Given the description of an element on the screen output the (x, y) to click on. 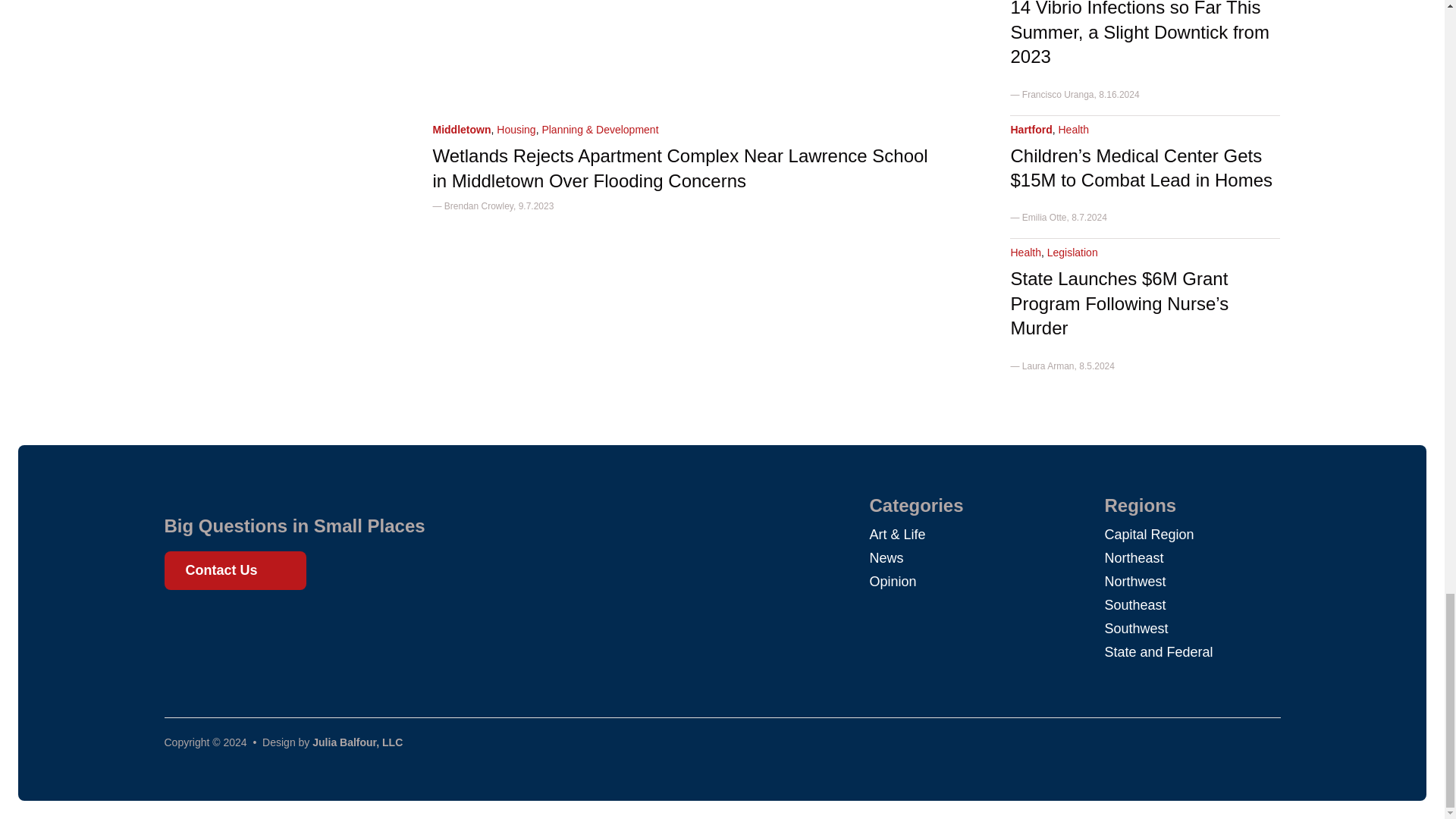
twitter (210, 624)
instagram (238, 624)
facebook (183, 624)
